Given the description of an element on the screen output the (x, y) to click on. 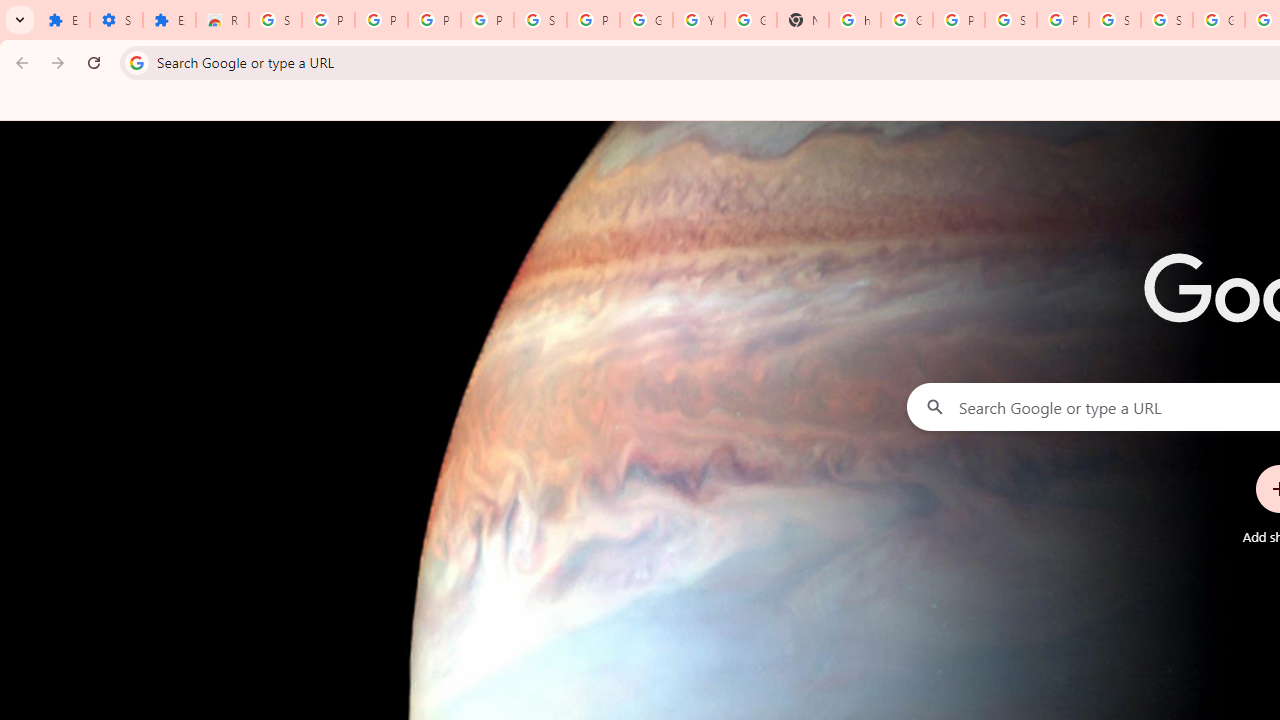
Settings (116, 20)
Sign in - Google Accounts (1166, 20)
Extensions (169, 20)
Sign in - Google Accounts (1010, 20)
Reviews: Helix Fruit Jump Arcade Game (222, 20)
Sign in - Google Accounts (275, 20)
YouTube (698, 20)
